Given the description of an element on the screen output the (x, y) to click on. 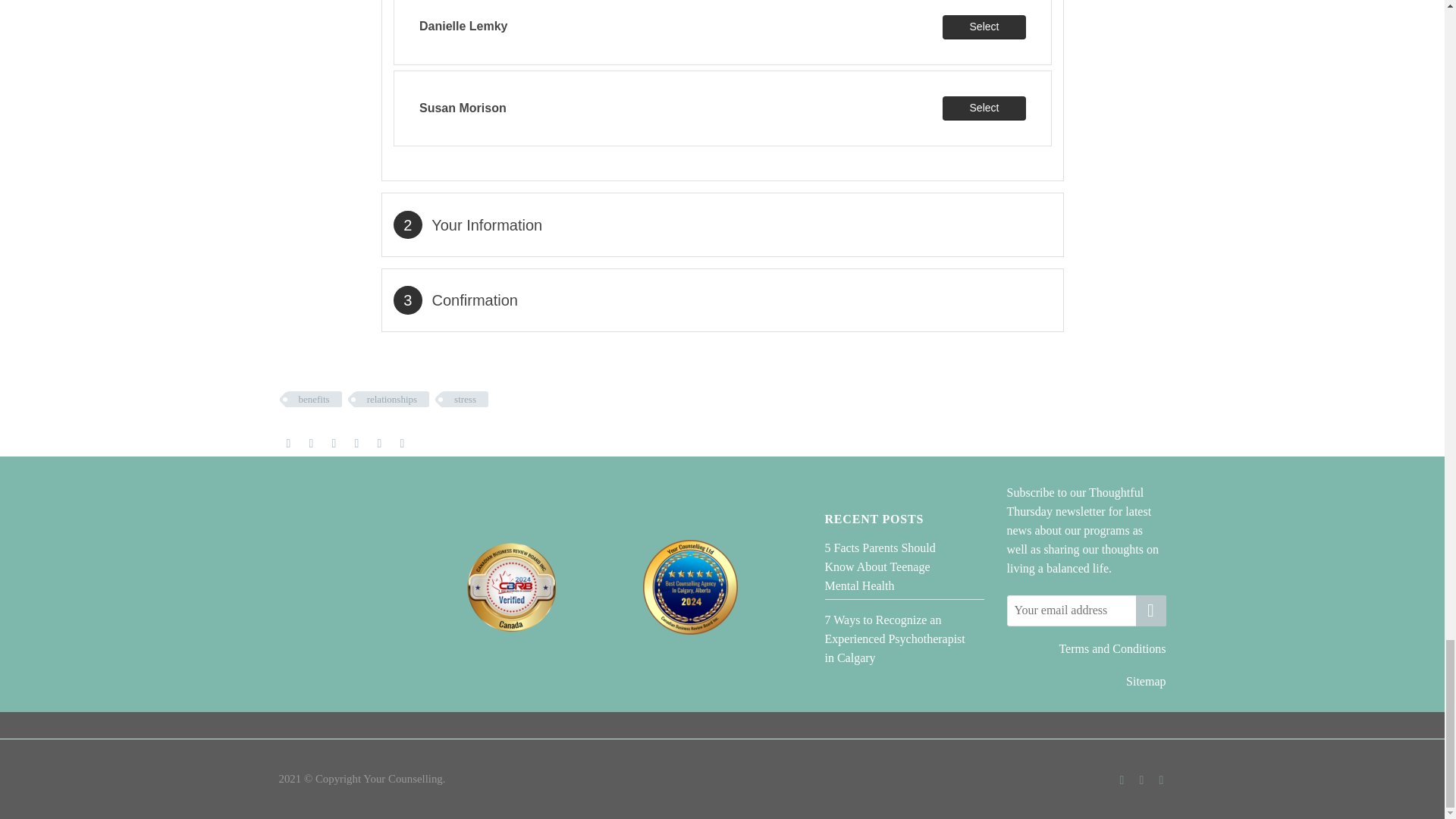
Twitter (310, 443)
Pinterest (333, 443)
Tumblr (356, 443)
2024 CBRB Inc. Your Counselling Ltd Award Badge (690, 586)
Reddit (401, 443)
Facebook (288, 443)
LinkedIn (378, 443)
benefits (314, 399)
